Given the description of an element on the screen output the (x, y) to click on. 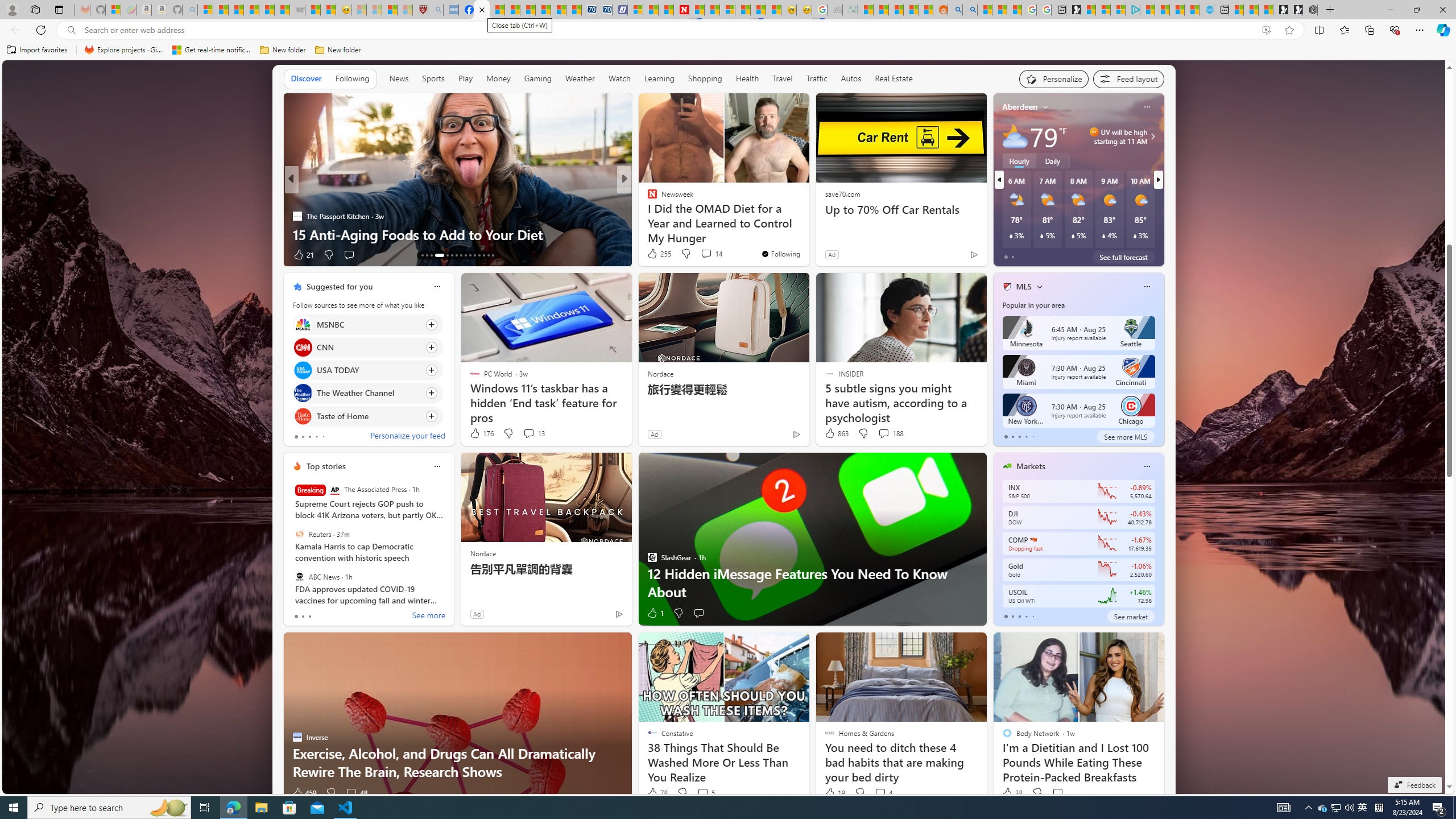
AutomationID: backgroundImagePicture (723, 426)
Enhance video (1266, 29)
Real Estate (893, 79)
Health (746, 79)
Metro (647, 197)
Student Loan Update: Forgiveness Program Ends This Month (910, 9)
AutomationID: tab-74 (465, 255)
ETNT Mind+Body (647, 197)
CNN (302, 346)
